Given the description of an element on the screen output the (x, y) to click on. 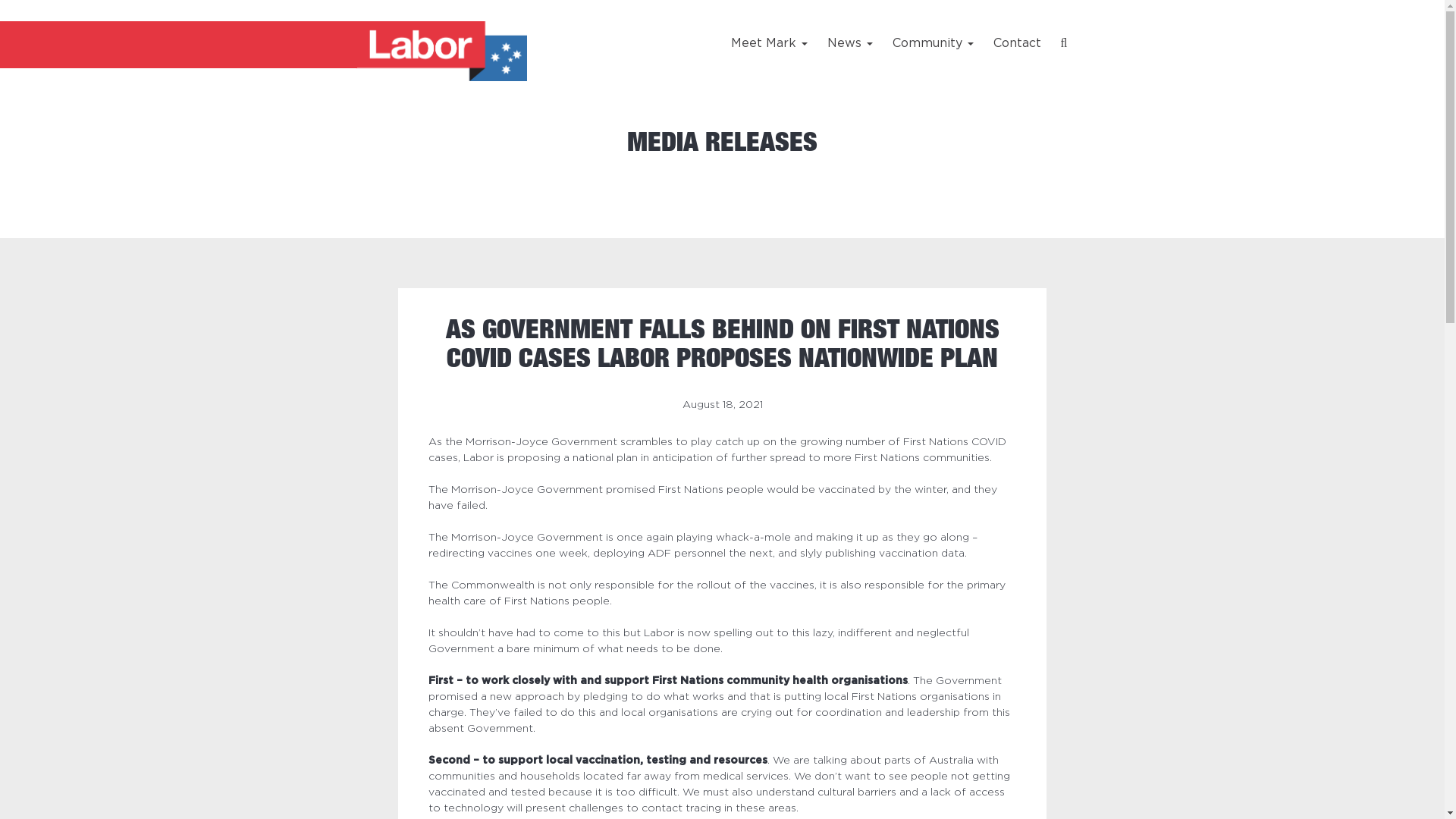
News Element type: text (849, 41)
Contact Element type: text (1017, 41)
Meet Mark Element type: text (774, 41)
Community Element type: text (932, 41)
